Given the description of an element on the screen output the (x, y) to click on. 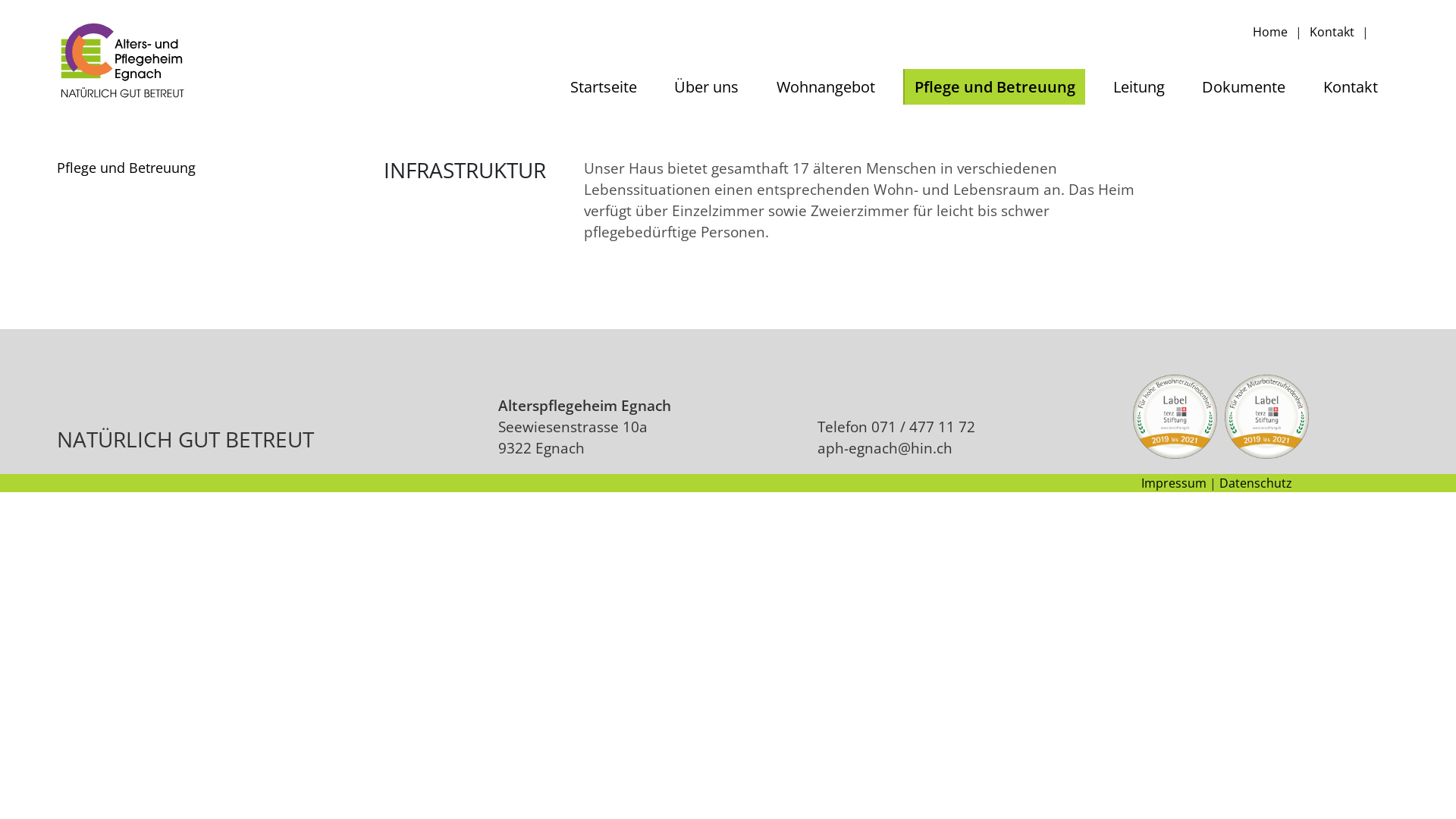
Pflege und Betreuung Element type: text (994, 86)
Pflege und Betreuung Element type: text (125, 167)
Wohnangebot Element type: text (825, 86)
Leitung Element type: text (1138, 86)
Impressum Element type: text (1173, 482)
Kontakt Element type: text (1350, 86)
Dokumente Element type: text (1243, 86)
Home Element type: text (1269, 31)
APH Egnach Element type: hover (122, 62)
Startseite Element type: text (603, 86)
Kontakt Element type: text (1331, 31)
Datenschutz Element type: text (1255, 482)
